Given the description of an element on the screen output the (x, y) to click on. 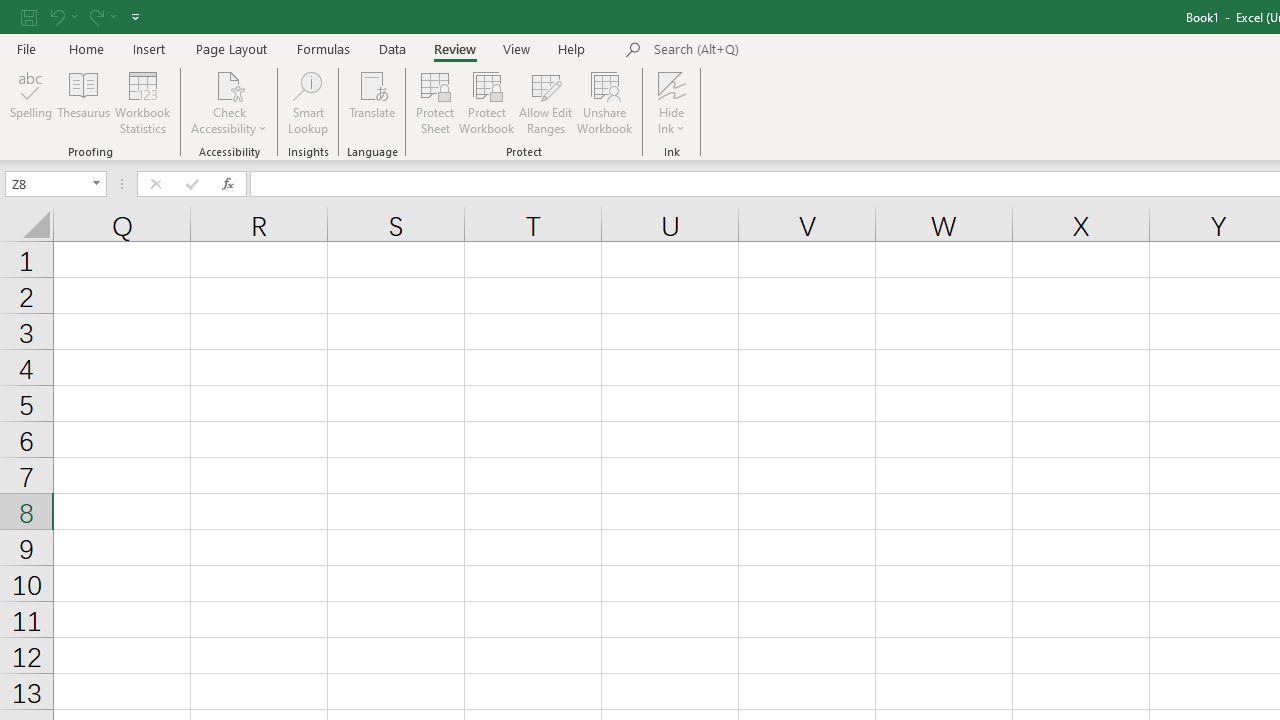
Unshare Workbook (604, 102)
Protect Workbook... (486, 102)
